Given the description of an element on the screen output the (x, y) to click on. 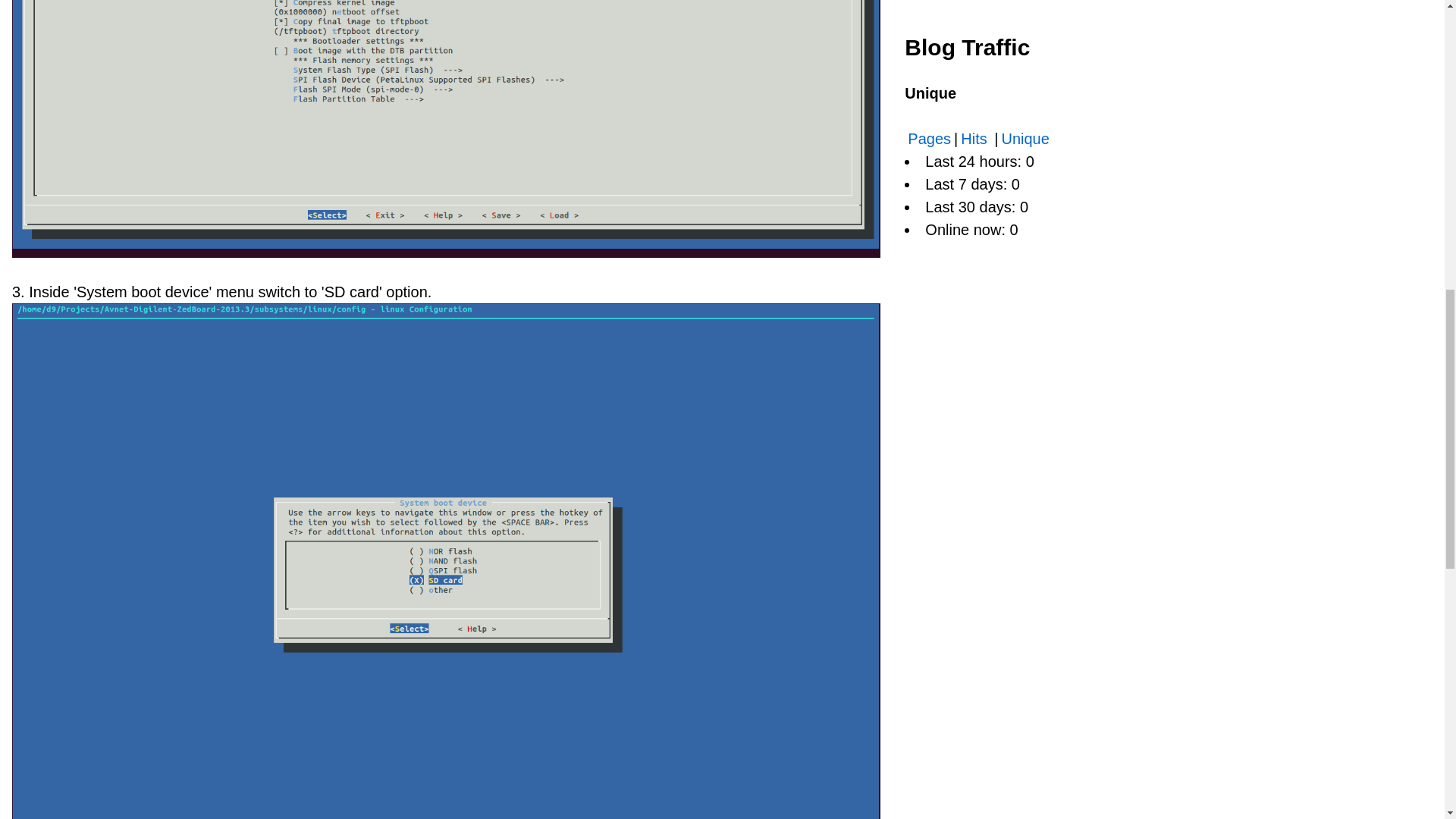
Pages (928, 138)
Hits (975, 138)
Unique (1023, 138)
